Given the description of an element on the screen output the (x, y) to click on. 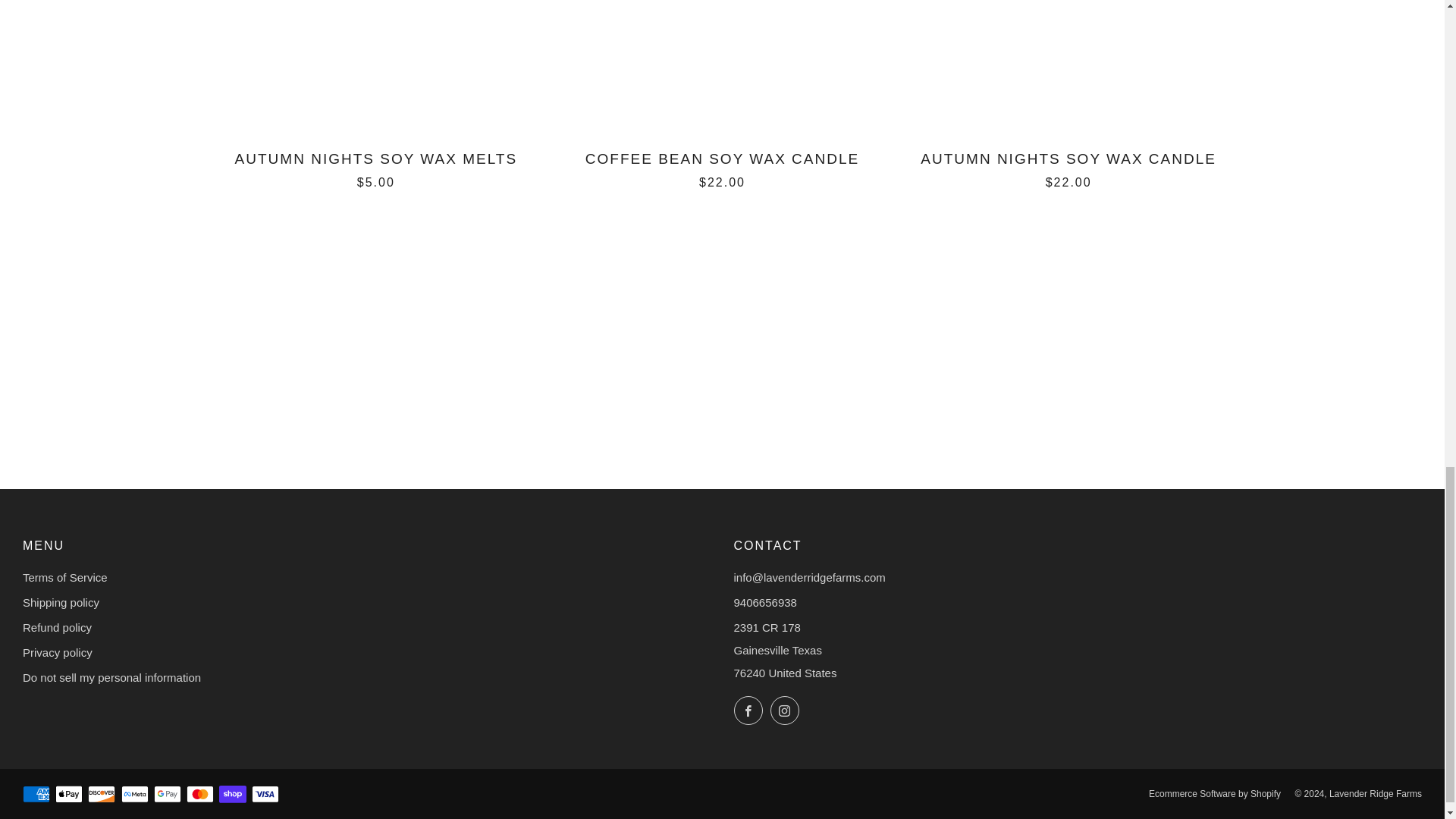
Autumn Nights Soy Wax Candle (1068, 167)
Coffee Bean Soy Wax Candle (721, 167)
Autumn Nights Soy Wax Melts (376, 167)
